Given the description of an element on the screen output the (x, y) to click on. 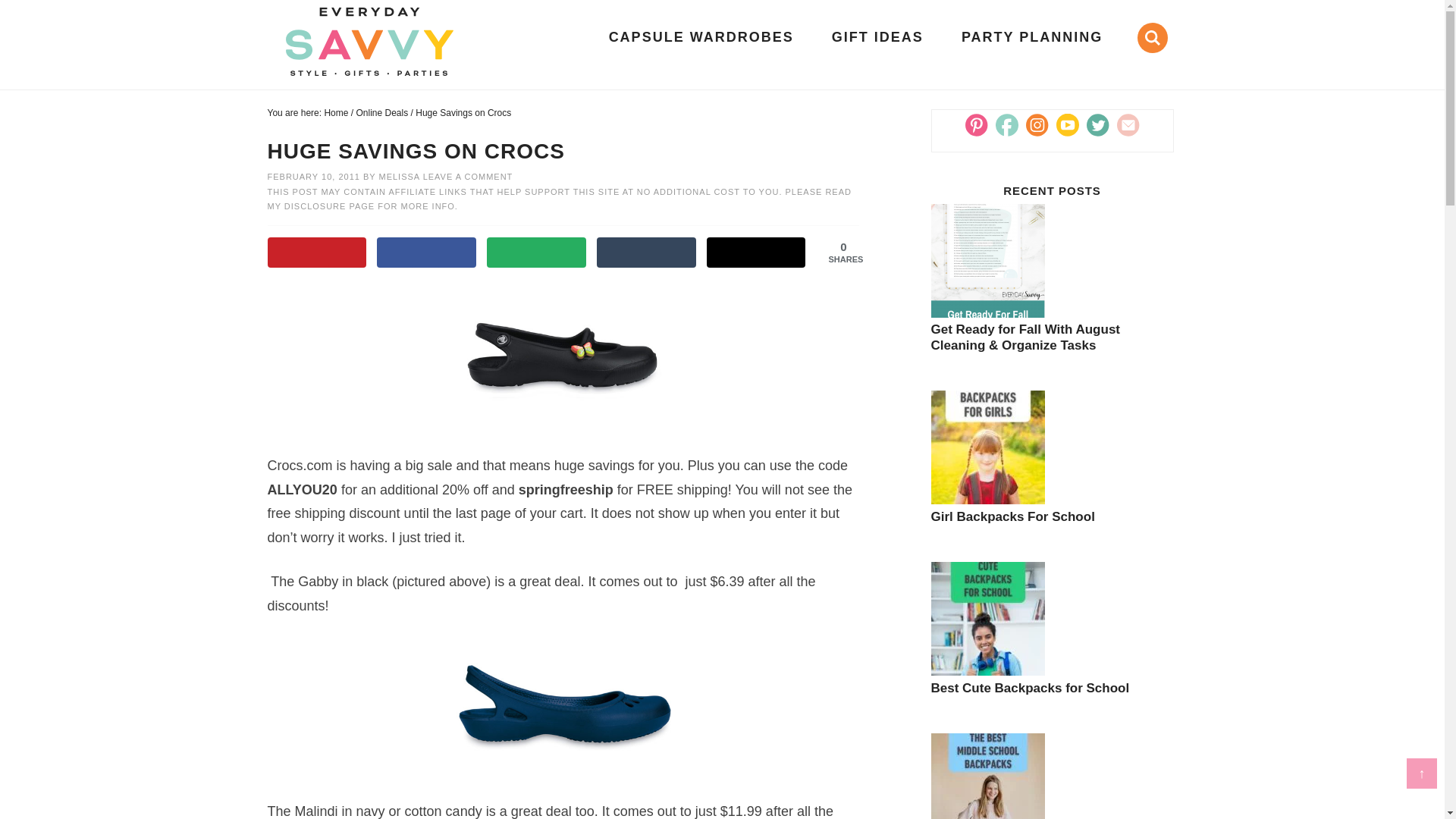
MELISSA (398, 175)
Share on Facebook (426, 252)
DISCLOSURE PAGE (330, 205)
crocmalindi (563, 709)
Online Deals (382, 112)
Save to Pinterest (316, 252)
crocsgabbyblack (563, 362)
LEAVE A COMMENT (468, 175)
